Given the description of an element on the screen output the (x, y) to click on. 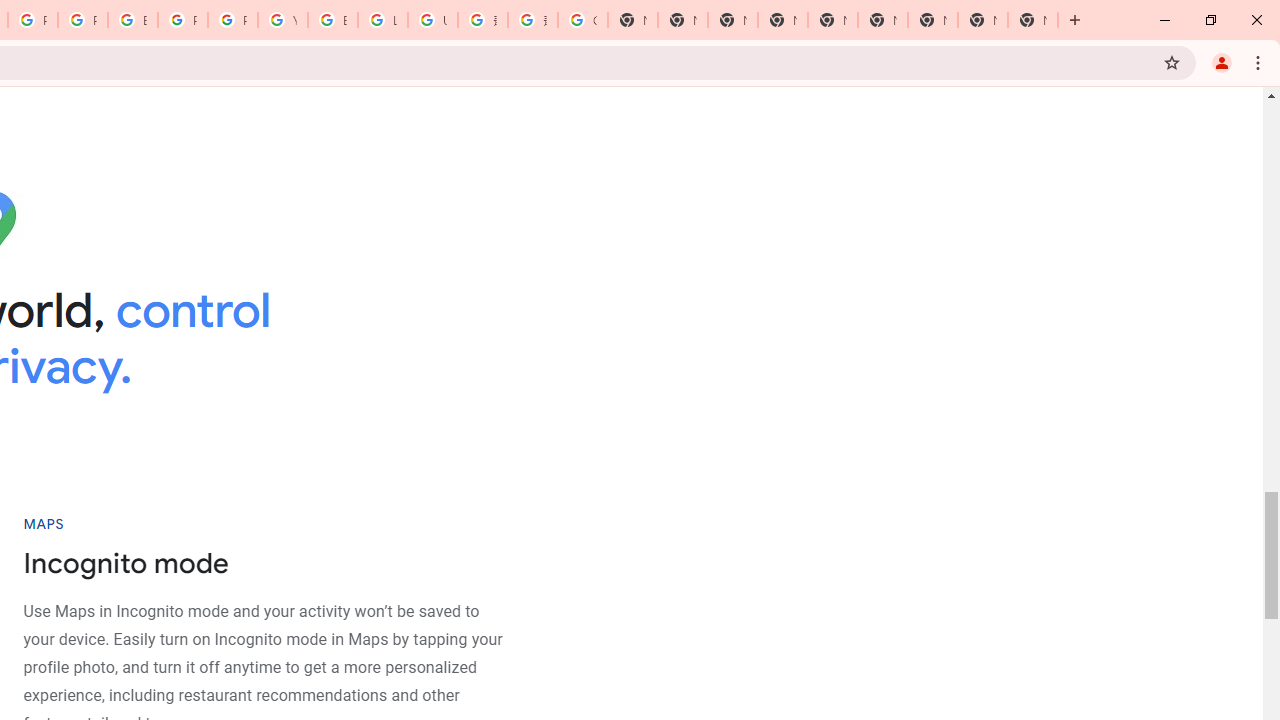
New Tab (1032, 20)
YouTube (283, 20)
